Given the description of an element on the screen output the (x, y) to click on. 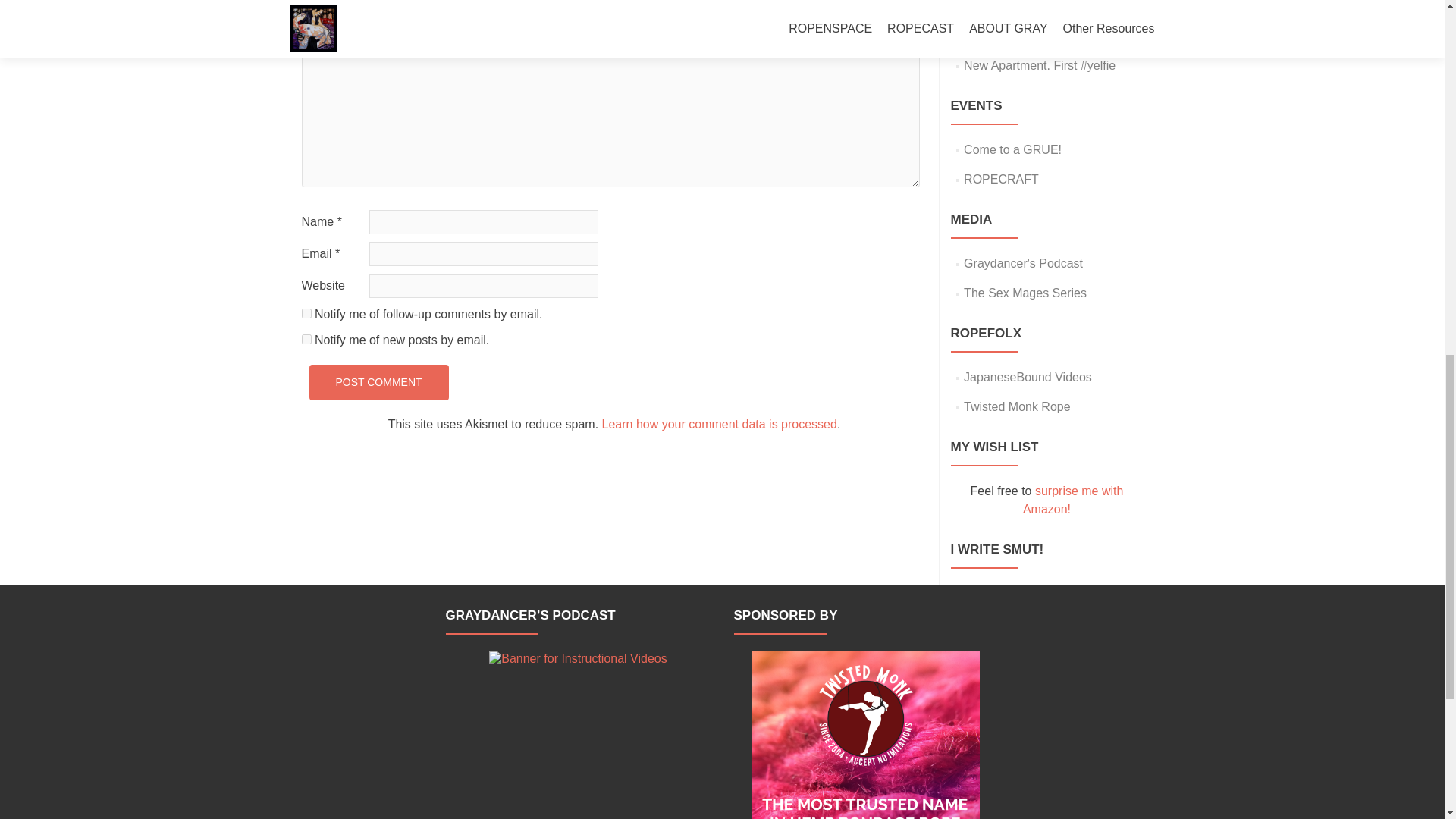
Post Comment (378, 382)
subscribe (306, 313)
subscribe (306, 338)
Downloadable rope instruction videos from Japan! (1027, 377)
Learn how your comment data is processed (719, 423)
Post Comment (378, 382)
